Given the description of an element on the screen output the (x, y) to click on. 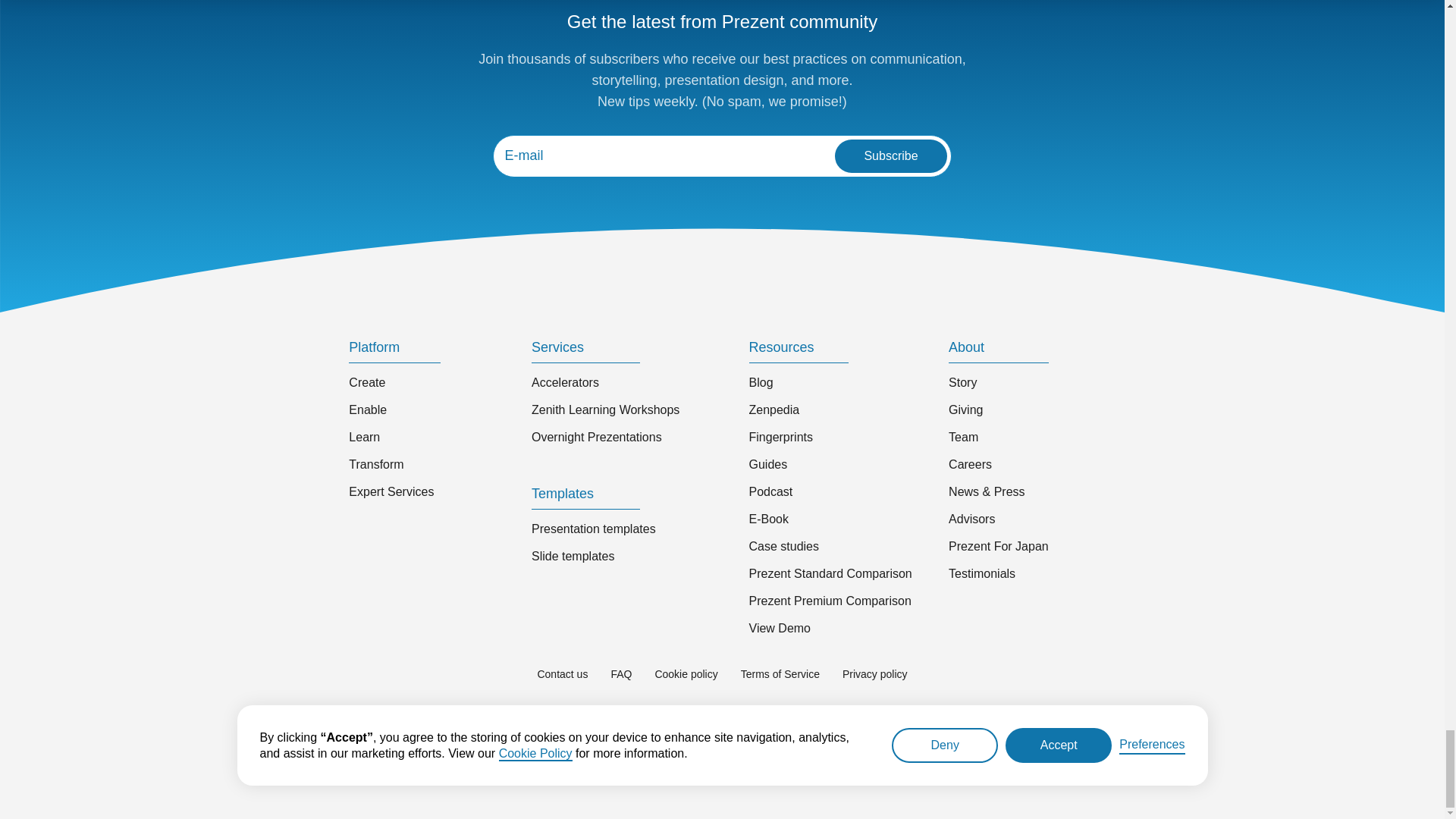
Subscribe (890, 155)
